Given the description of an element on the screen output the (x, y) to click on. 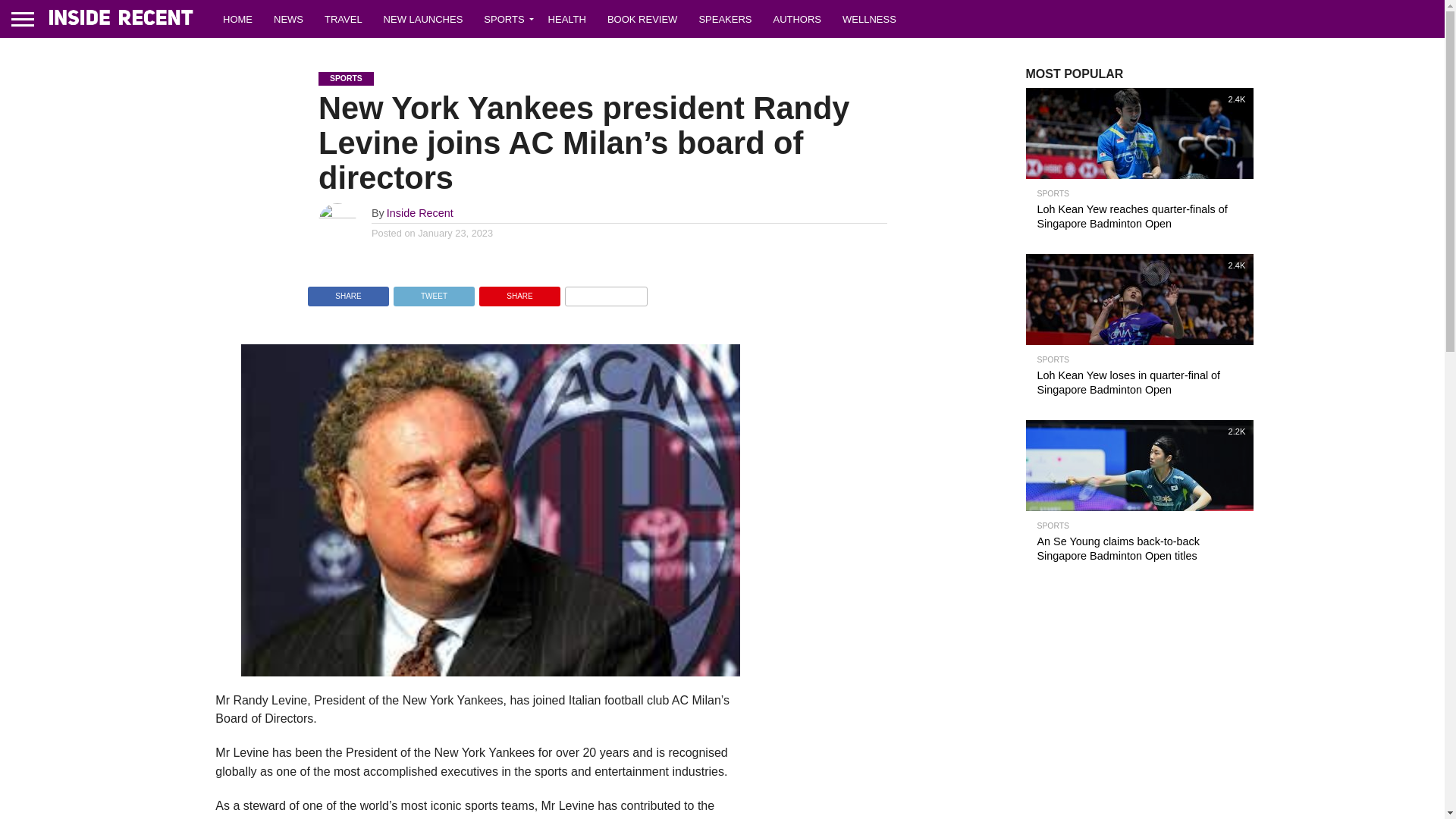
SHARE (348, 291)
WELLNESS (869, 18)
SPEAKERS (724, 18)
Share on Facebook (348, 291)
NEWS (288, 18)
NEW LAUNCHES (423, 18)
Inside Recent (419, 213)
AUTHORS (796, 18)
BOOK REVIEW (641, 18)
Pin This Post (519, 291)
TWEET (434, 291)
Posts by Inside Recent (419, 213)
HOME (237, 18)
Tweet This Post (434, 291)
TRAVEL (343, 18)
